Given the description of an element on the screen output the (x, y) to click on. 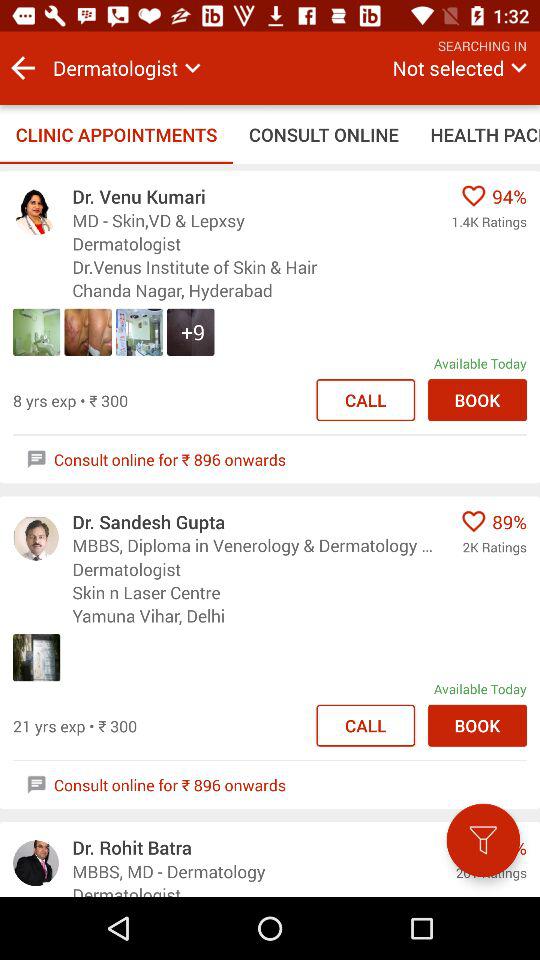
open for wifi menu (483, 840)
